Given the description of an element on the screen output the (x, y) to click on. 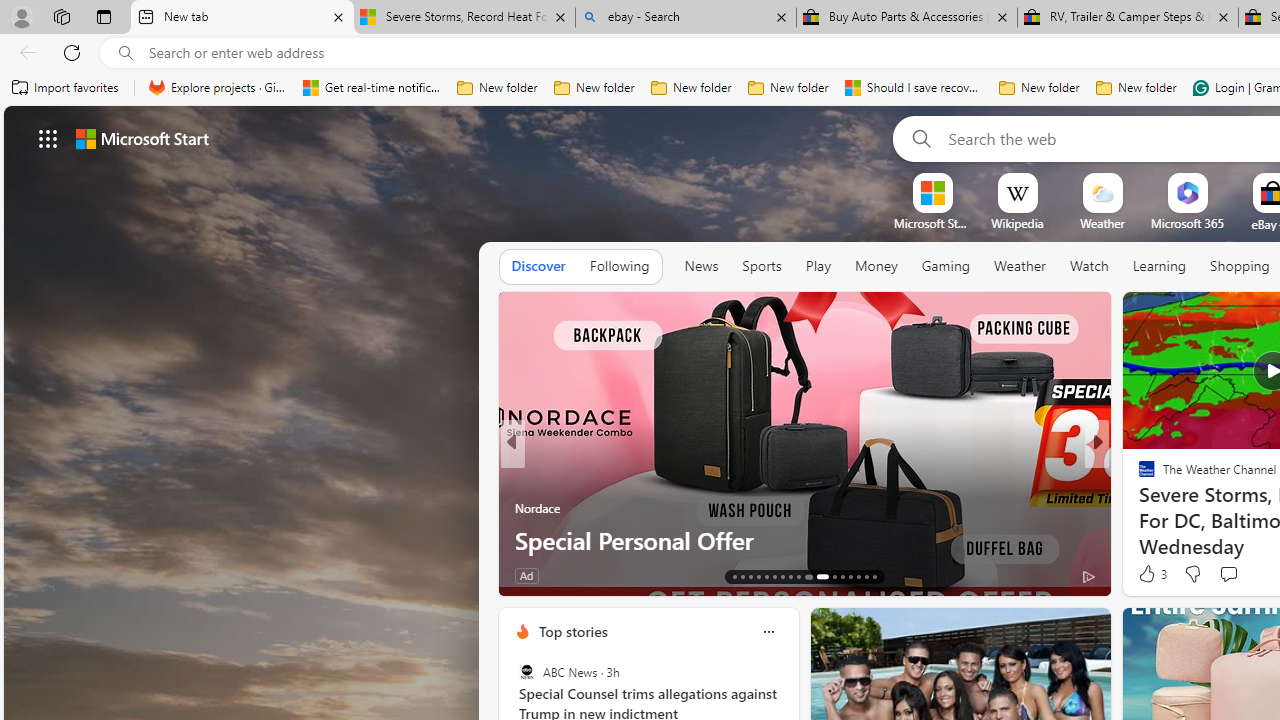
Microsoft start (142, 138)
Microsoft 365 (1186, 223)
Following (619, 265)
News (701, 267)
Discover (538, 267)
Class: icon-img (768, 632)
View comments 167 Comment (1247, 574)
Gaming (945, 265)
AutomationID: tab-22 (806, 576)
AutomationID: tab-26 (850, 576)
View comments 1 Comment (1234, 575)
Sports (761, 267)
Personal Profile (21, 16)
App launcher (47, 138)
Close tab (1222, 16)
